Given the description of an element on the screen output the (x, y) to click on. 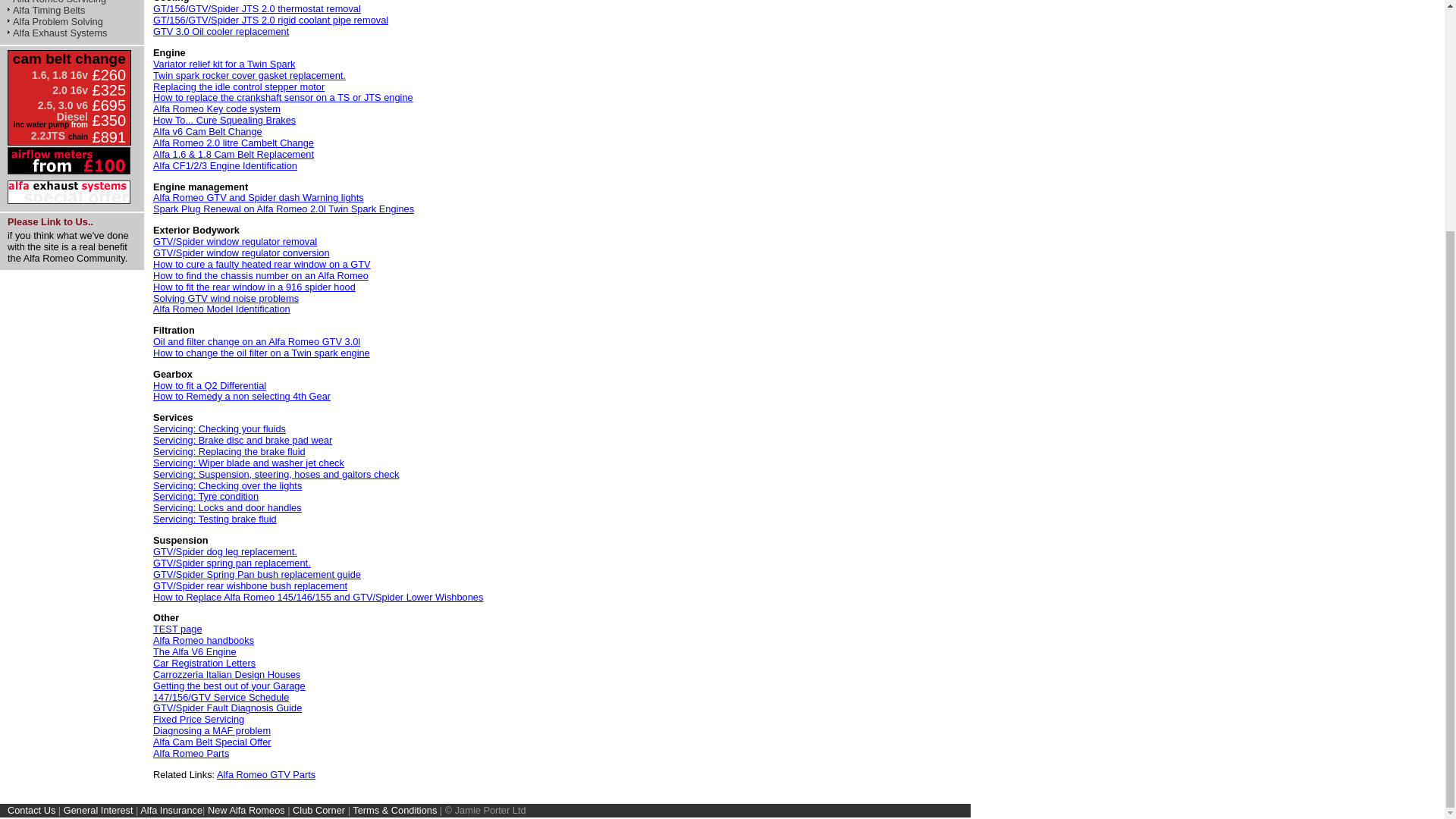
Alfa Exhaust Systems (56, 32)
Alfa Timing Belts (45, 9)
Alfa Problem Solving (55, 21)
Alfa Romeo Servicing (56, 2)
